Given the description of an element on the screen output the (x, y) to click on. 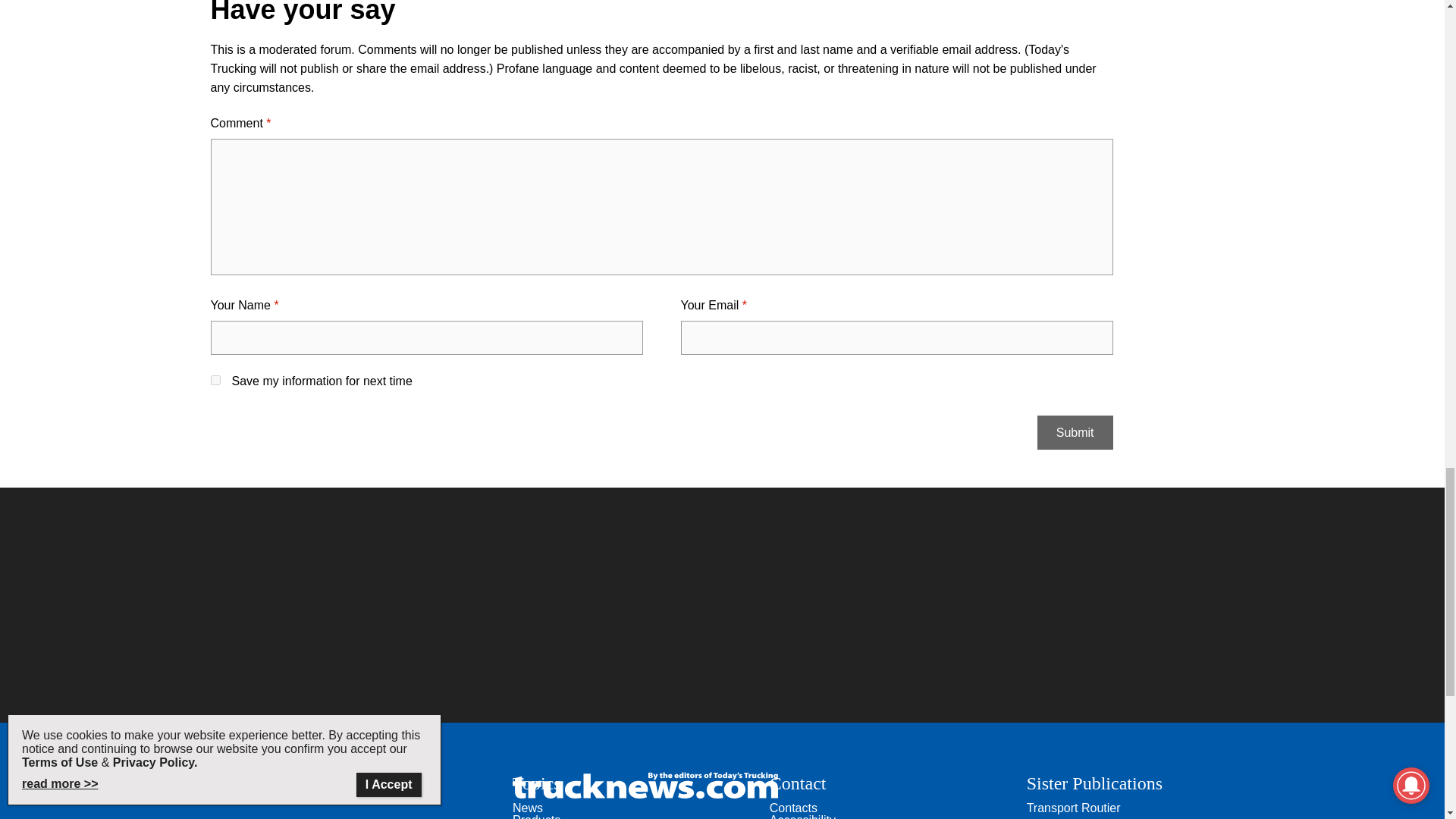
3rd party ad content (721, 605)
yes (216, 379)
Submit (1074, 432)
